Given the description of an element on the screen output the (x, y) to click on. 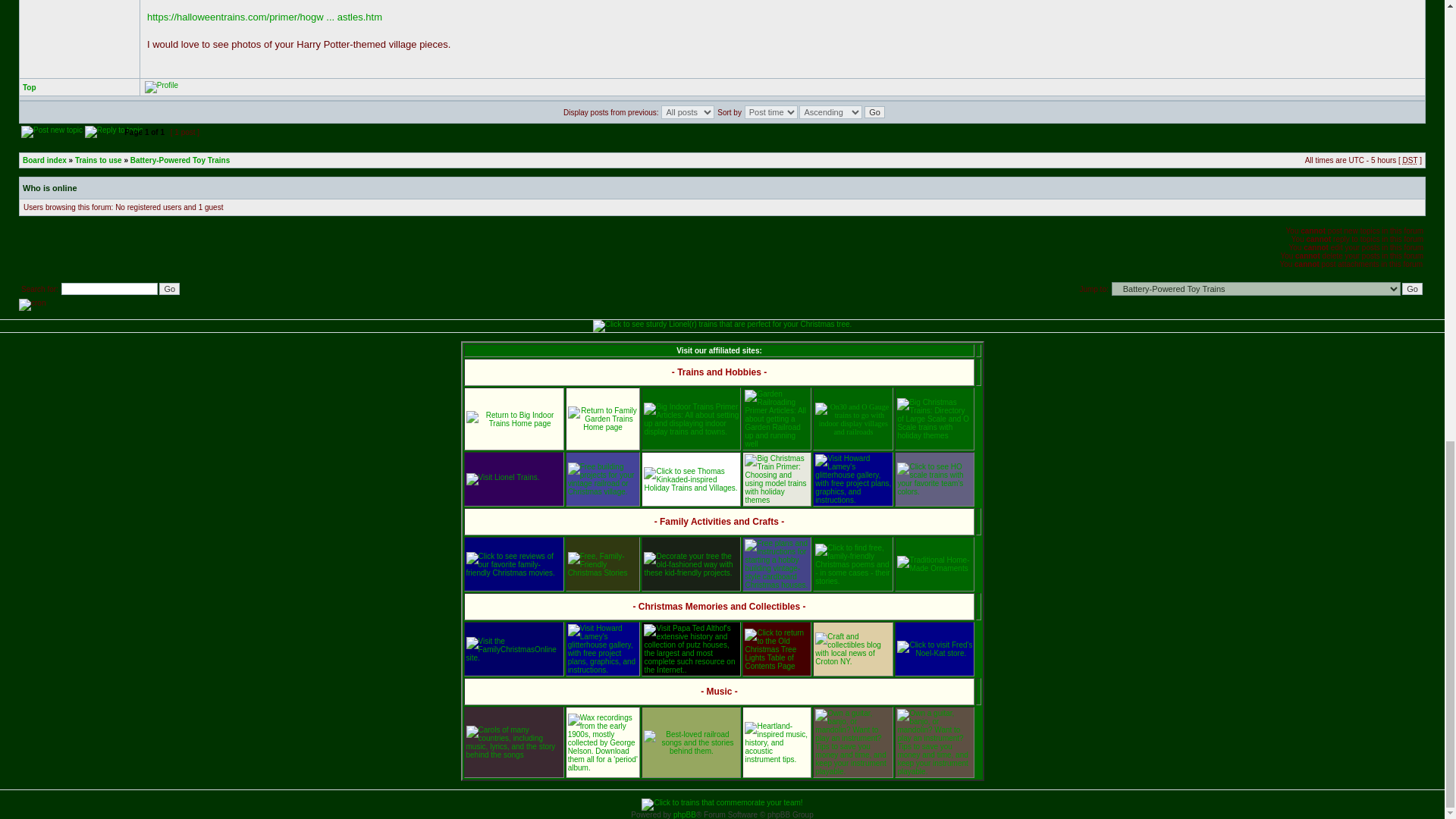
Go (168, 288)
Go (1412, 288)
Top (29, 87)
Go (1412, 288)
Board index (44, 160)
Go (874, 111)
Battery-Powered Toy Trains (180, 160)
Post new topic (51, 132)
Daylight Saving Time (1410, 160)
Go (168, 288)
Profile (160, 87)
Go (874, 111)
Reply to topic (113, 132)
Trains to use (98, 160)
